Given the description of an element on the screen output the (x, y) to click on. 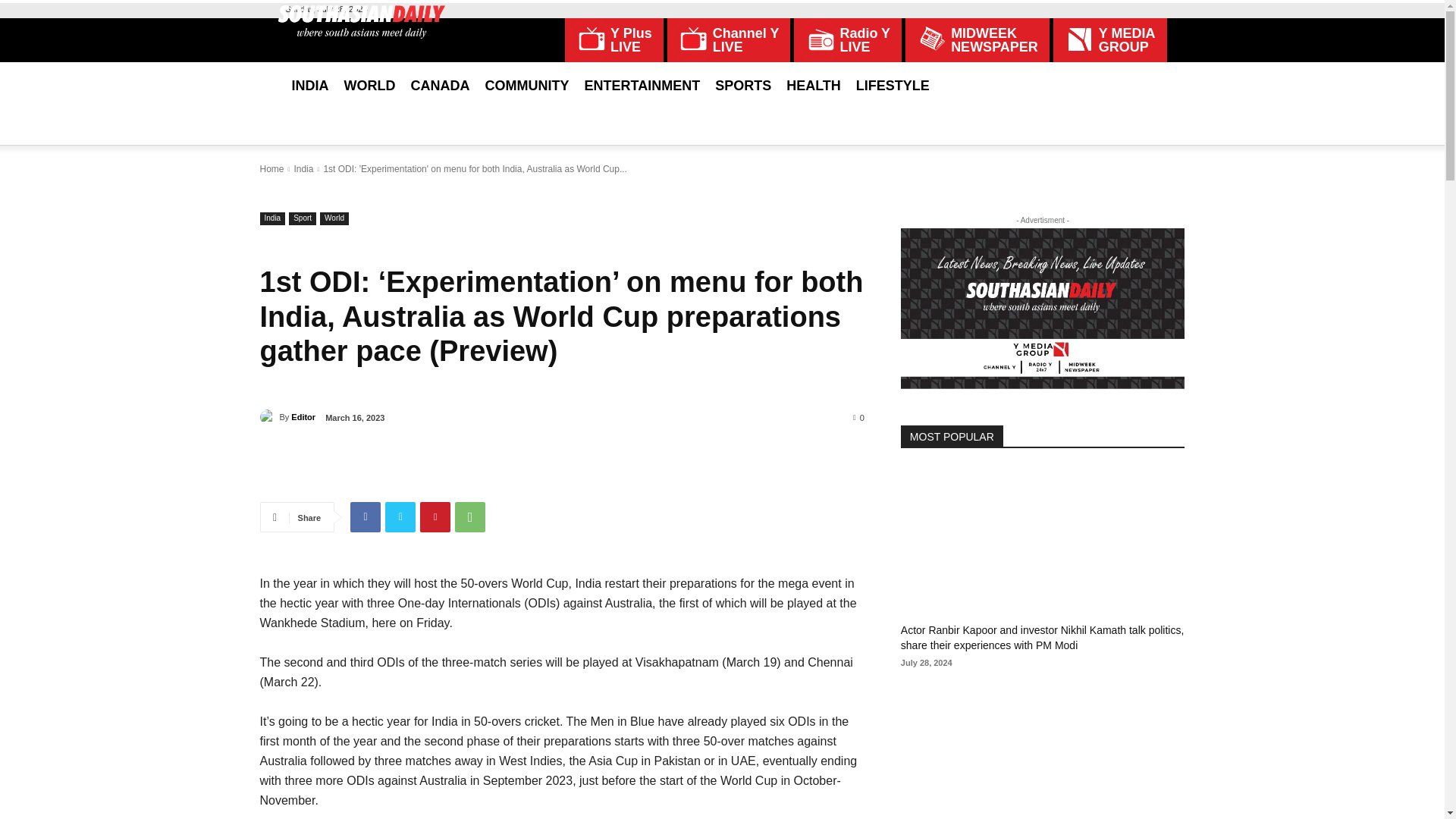
INDIA (309, 85)
WORLD (847, 40)
